Given the description of an element on the screen output the (x, y) to click on. 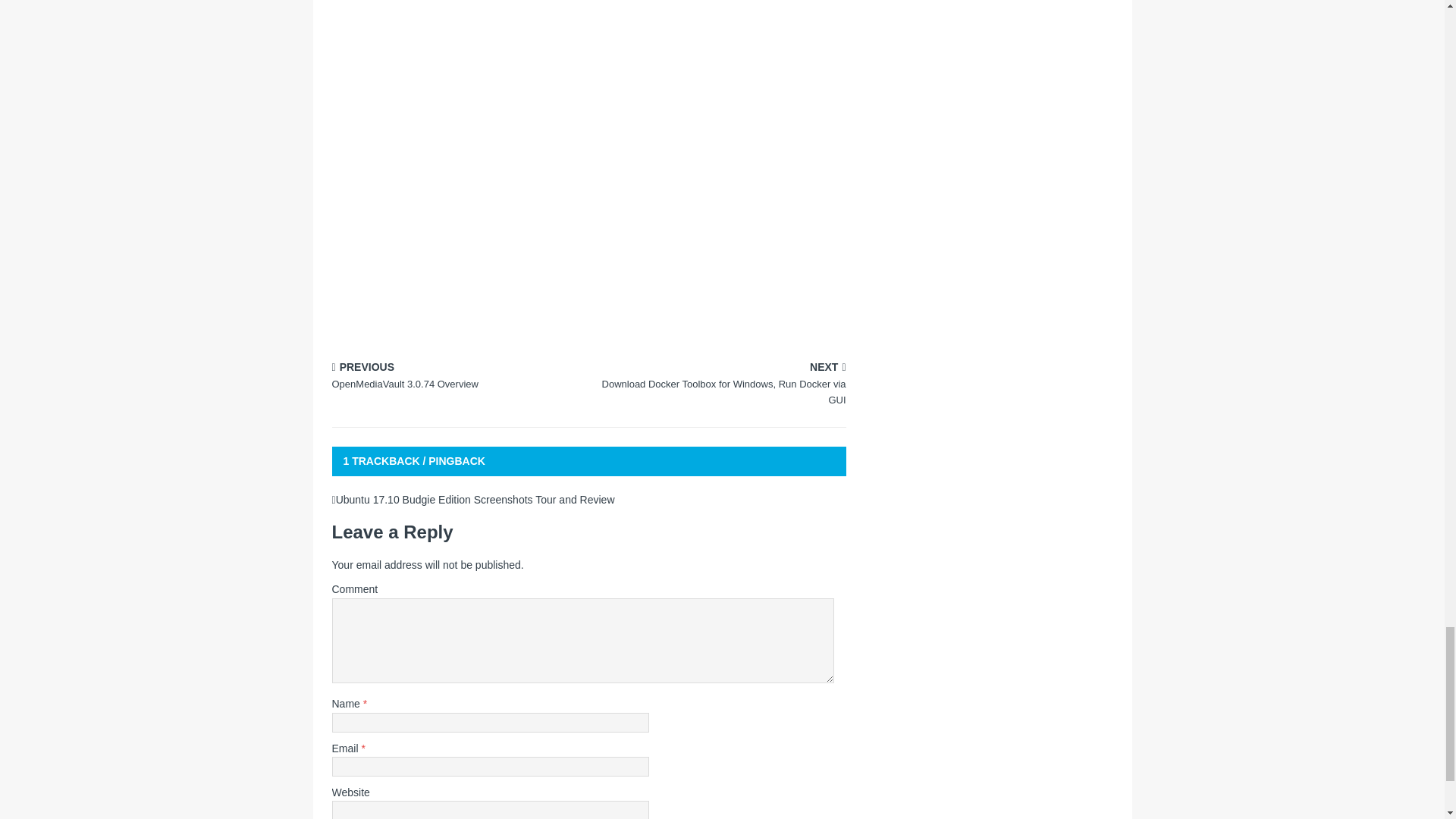
Ubuntu 17.10 Budgie Edition Screenshots Tour and Review (720, 384)
